Given the description of an element on the screen output the (x, y) to click on. 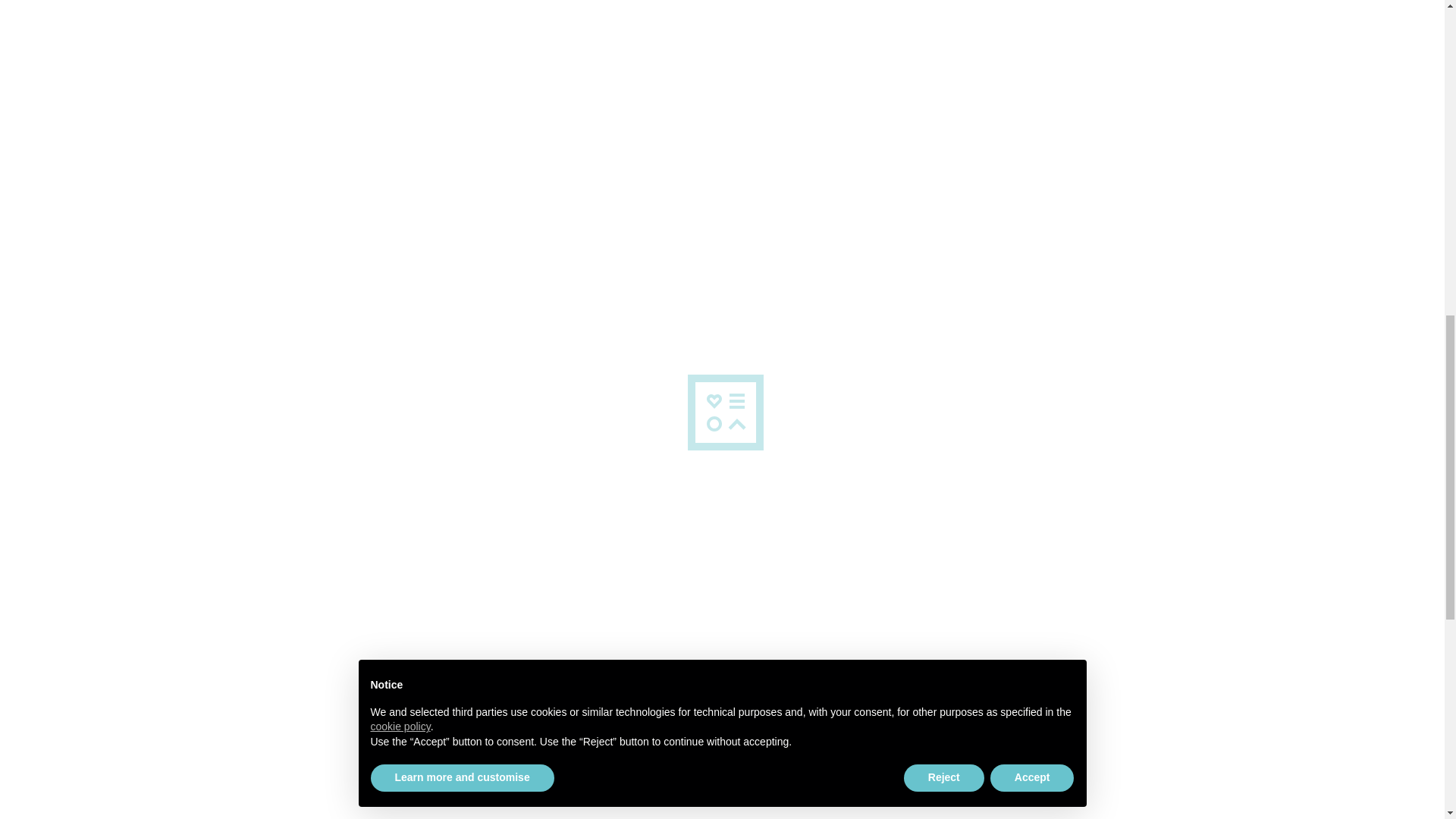
Twitter (314, 44)
DOWNLOAD PDF (470, 712)
Facebook (314, 12)
Twitter (314, 44)
Facebook (314, 12)
AgriEuro plus Connexia: creating a strong identity (994, 238)
